Given the description of an element on the screen output the (x, y) to click on. 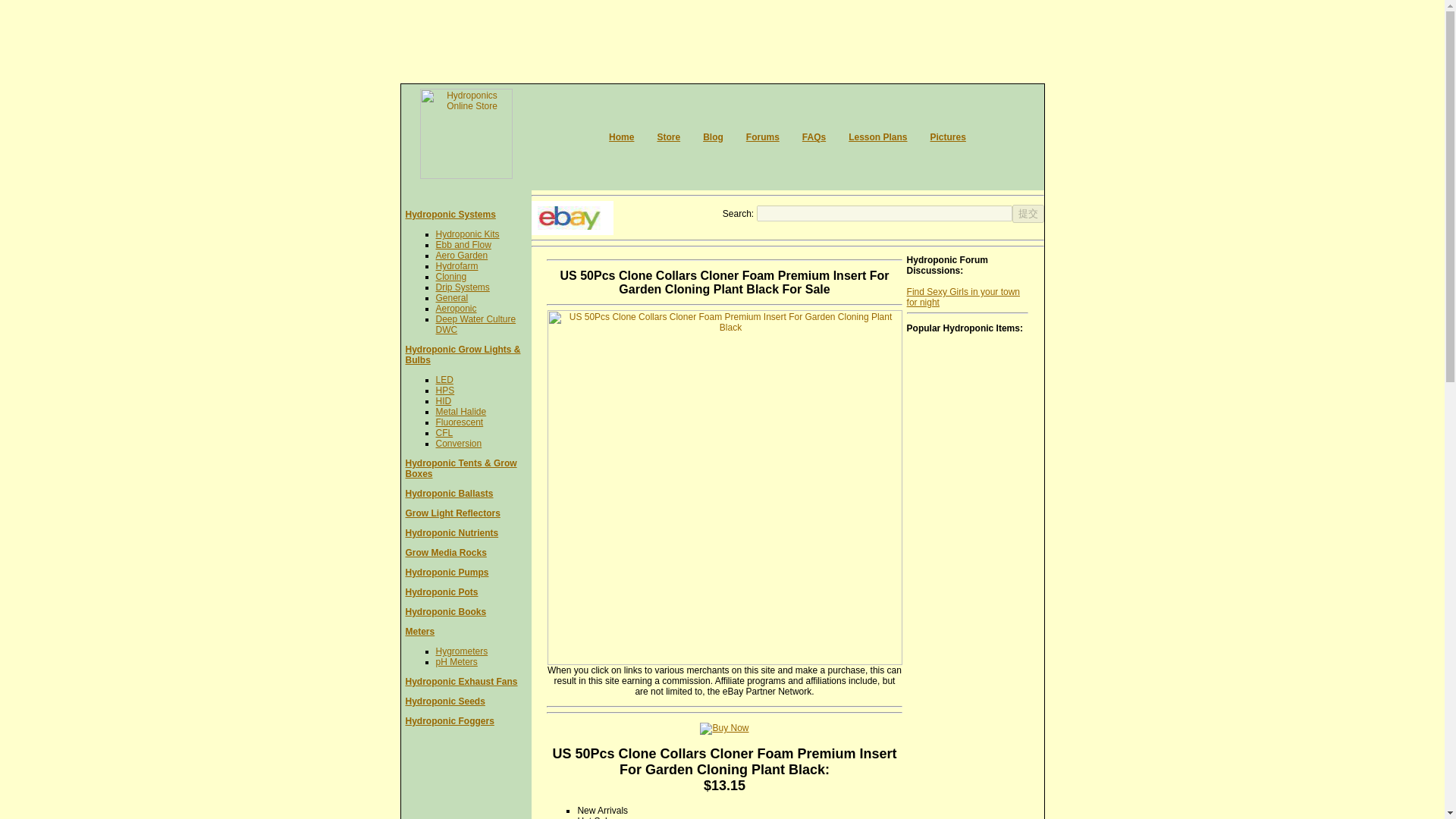
HID Grow Lights Bulbs and Lamps (443, 400)
pH Meters (456, 661)
Hydroponics Online Store (667, 136)
Buy Now (724, 728)
Hydroponic Exhaust Fans (460, 681)
FAQs (813, 136)
Fluorescent (459, 421)
Hydroponic Ballasts (448, 493)
Conversion grow lights lamps and bulbs (458, 443)
Hydroponic Nutrients (450, 532)
Hydroponic Systems (449, 214)
Metal Halide Grow Lights Bulbs and Lamps (460, 411)
Compact Fluorescent grow lights buls and lamps (443, 432)
Home (620, 136)
Deep Water Culture DWC (475, 323)
